Given the description of an element on the screen output the (x, y) to click on. 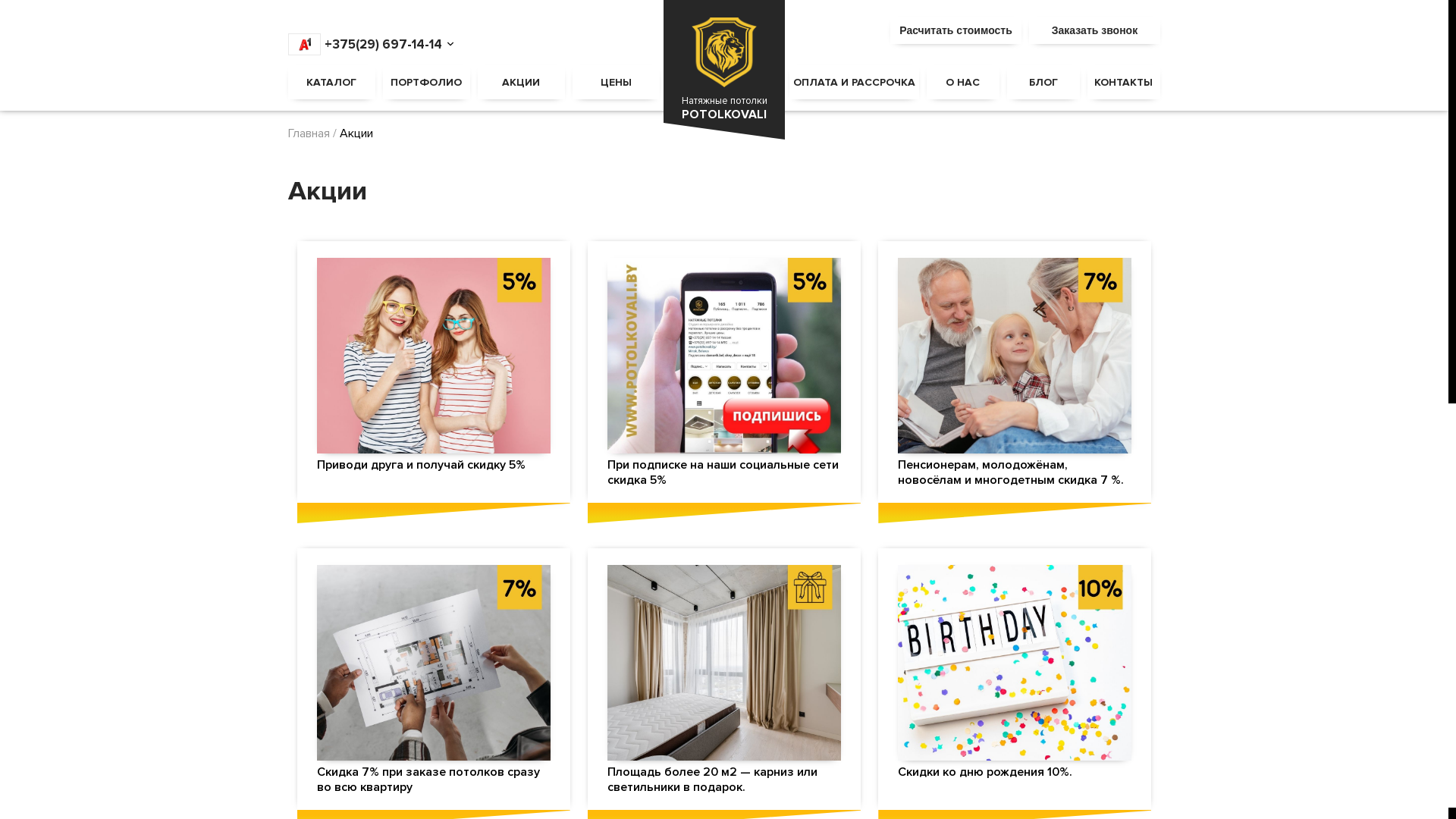
+375(29) 697-14-14 Element type: text (365, 44)
